Given the description of an element on the screen output the (x, y) to click on. 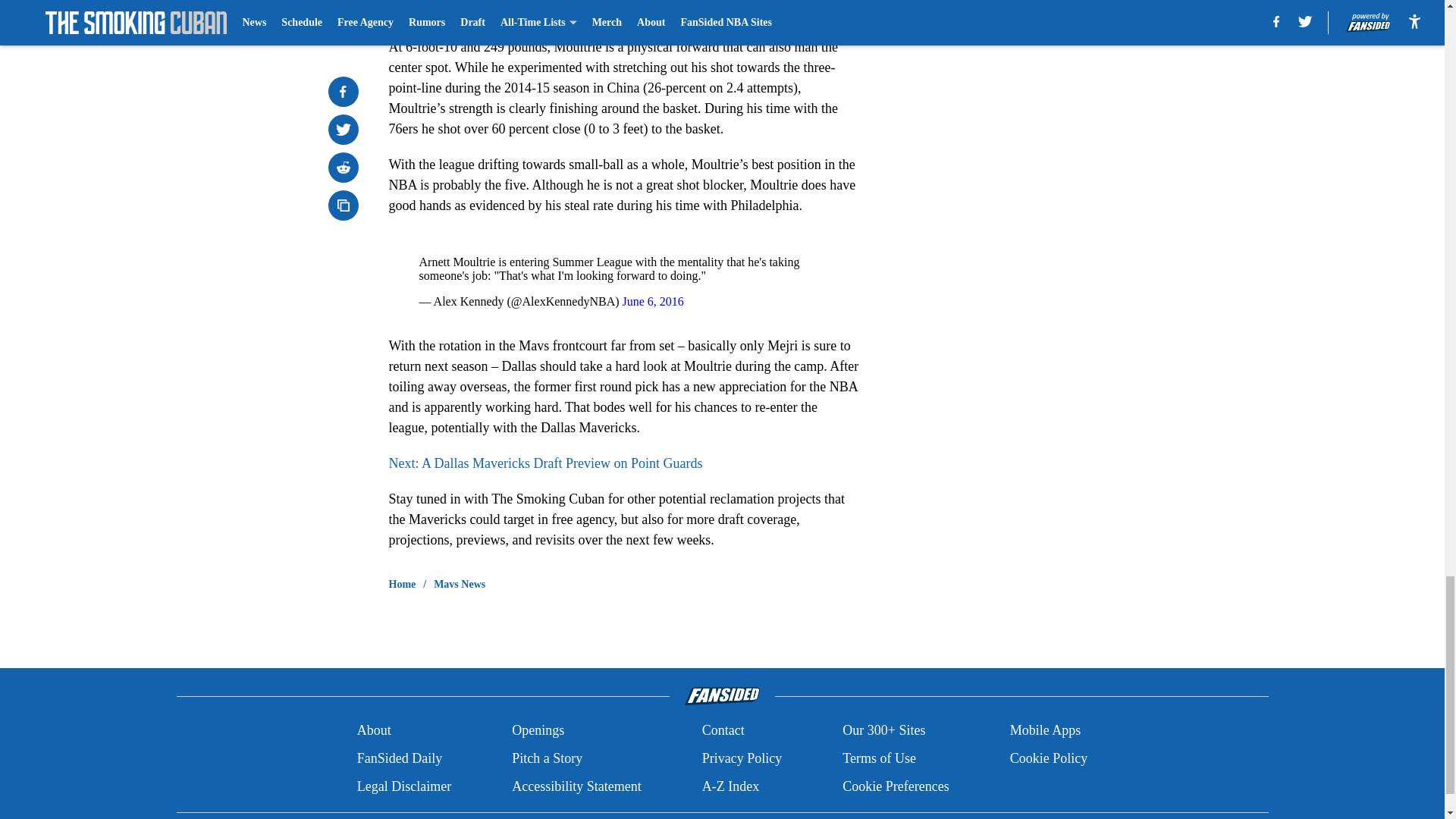
Next: A Dallas Mavericks Draft Preview on Point Guards (544, 462)
June 6, 2016 (653, 300)
